Given the description of an element on the screen output the (x, y) to click on. 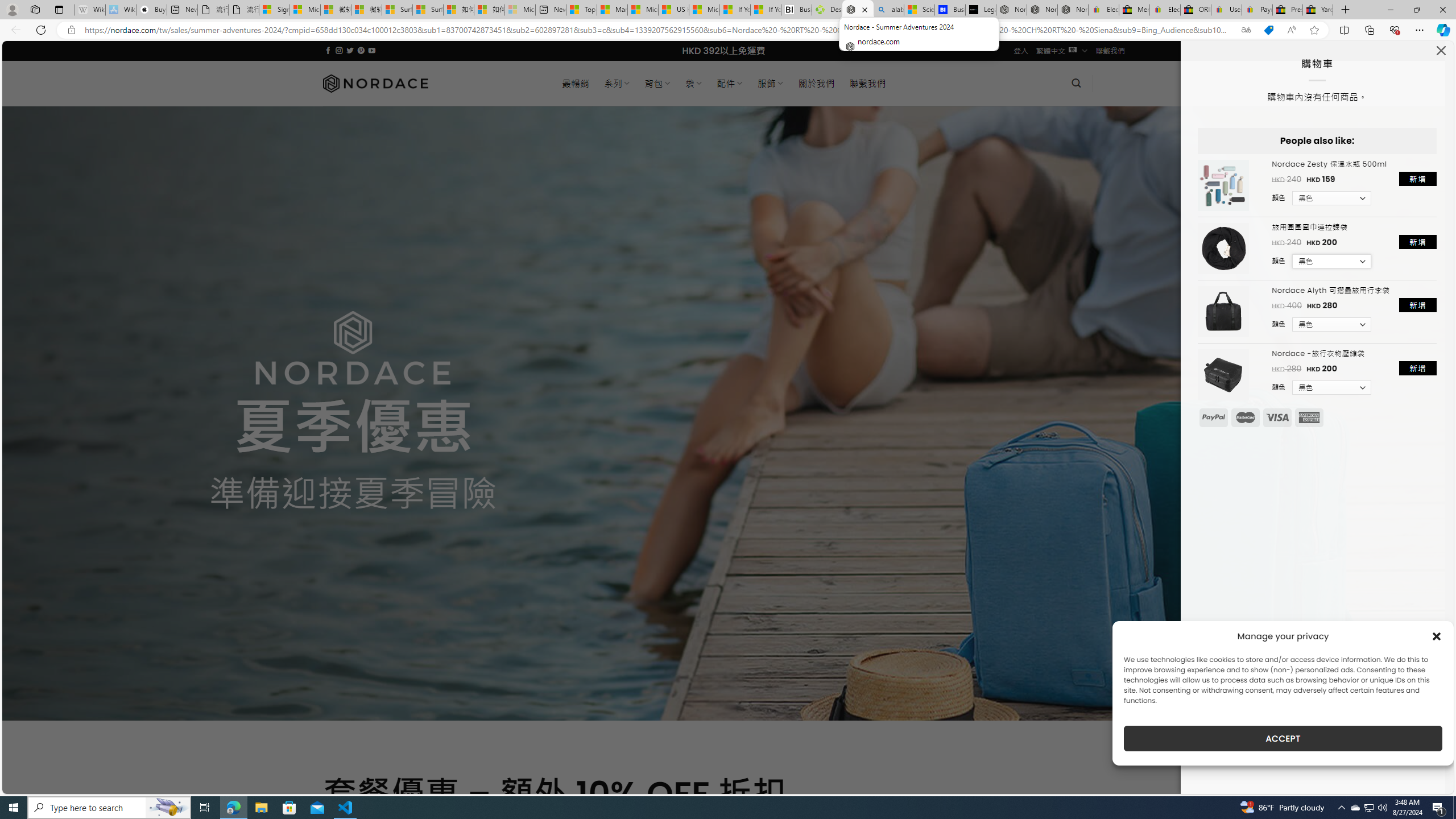
This site has coupons! Shopping in Microsoft Edge (1268, 29)
Microsoft account | Account Checkup - Sleeping (519, 9)
alabama high school quarterback dies - Search (887, 9)
Nordace - Summer Adventures 2024 (857, 9)
